Given the description of an element on the screen output the (x, y) to click on. 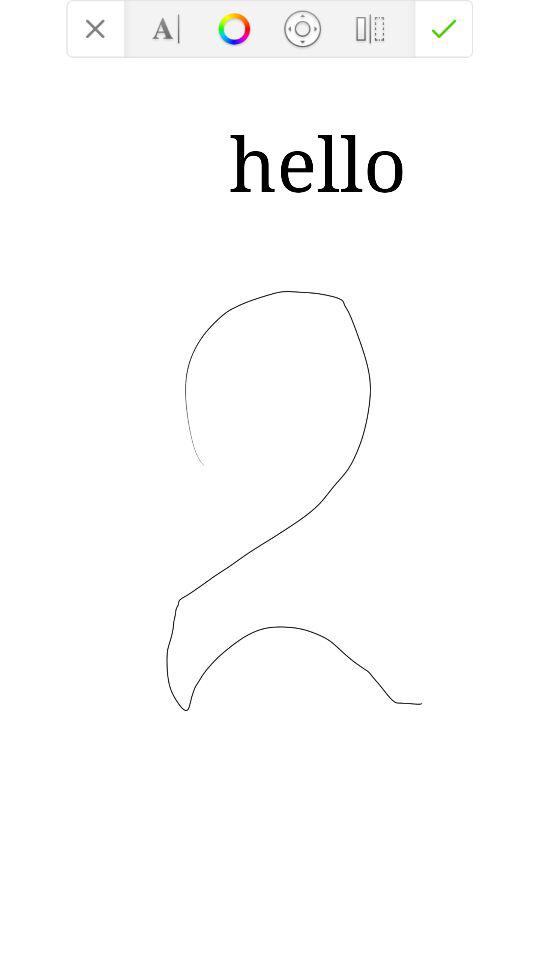
click to save (444, 28)
